Given the description of an element on the screen output the (x, y) to click on. 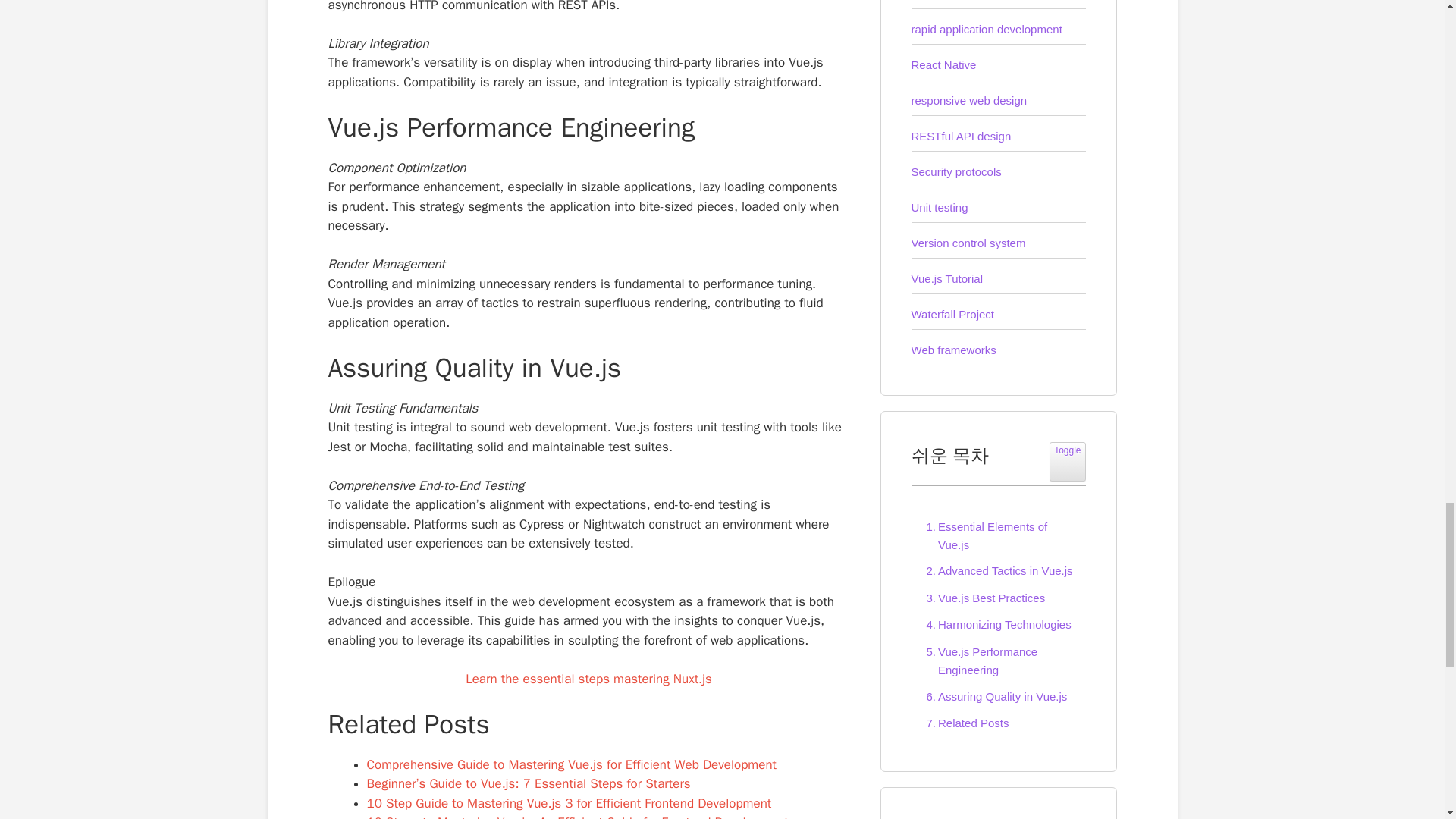
Related Posts (963, 723)
Advanced Tactics in Vue.js (995, 570)
Harmonizing Technologies (994, 624)
Essential Elements of Vue.js (998, 534)
Assuring Quality in Vue.js (992, 696)
Vue.js Performance Engineering (998, 660)
Vue.js Best Practices (981, 597)
Learn the essential steps mastering Nuxt.js (588, 678)
